Given the description of an element on the screen output the (x, y) to click on. 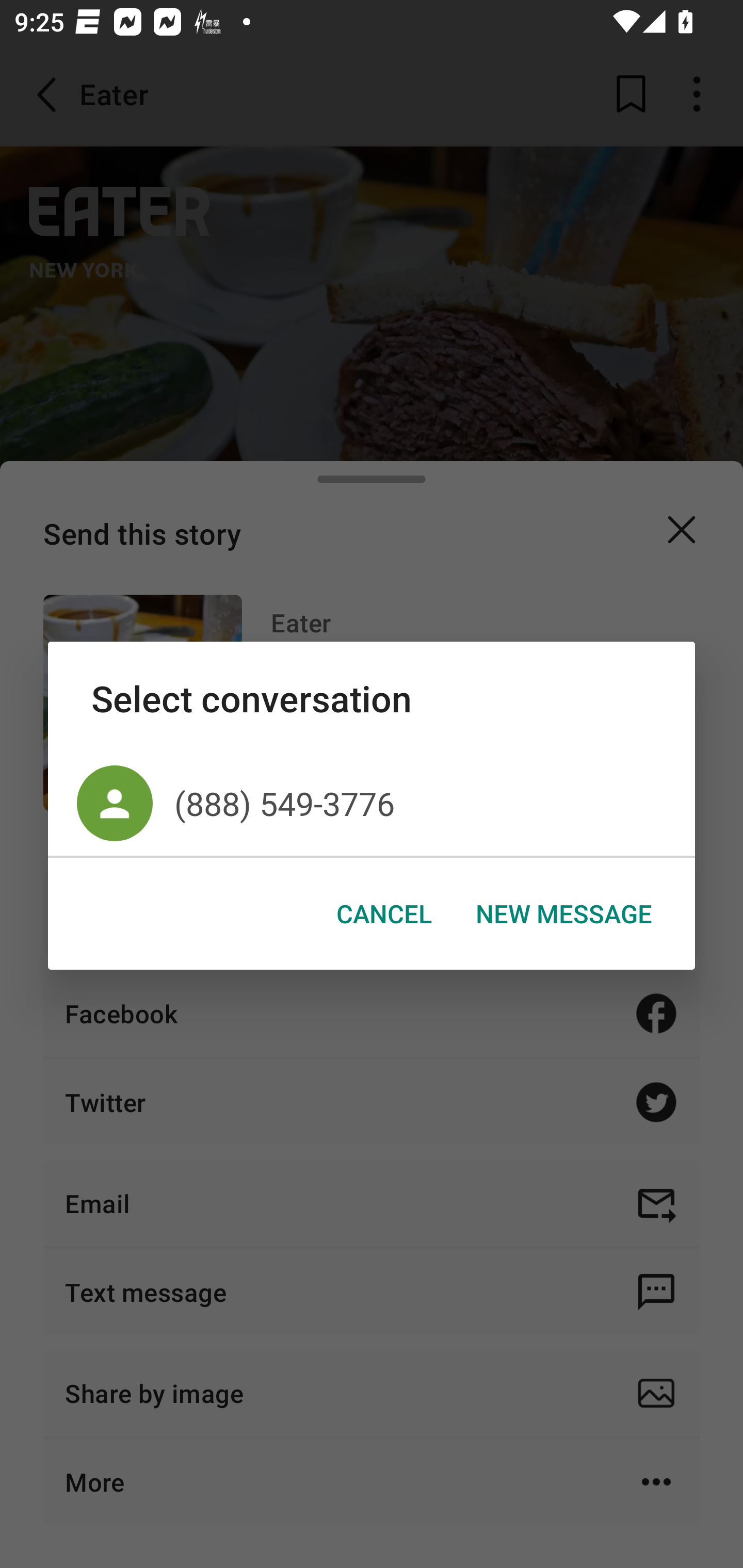
CANCEL (384, 913)
NEW MESSAGE (563, 913)
